Given the description of an element on the screen output the (x, y) to click on. 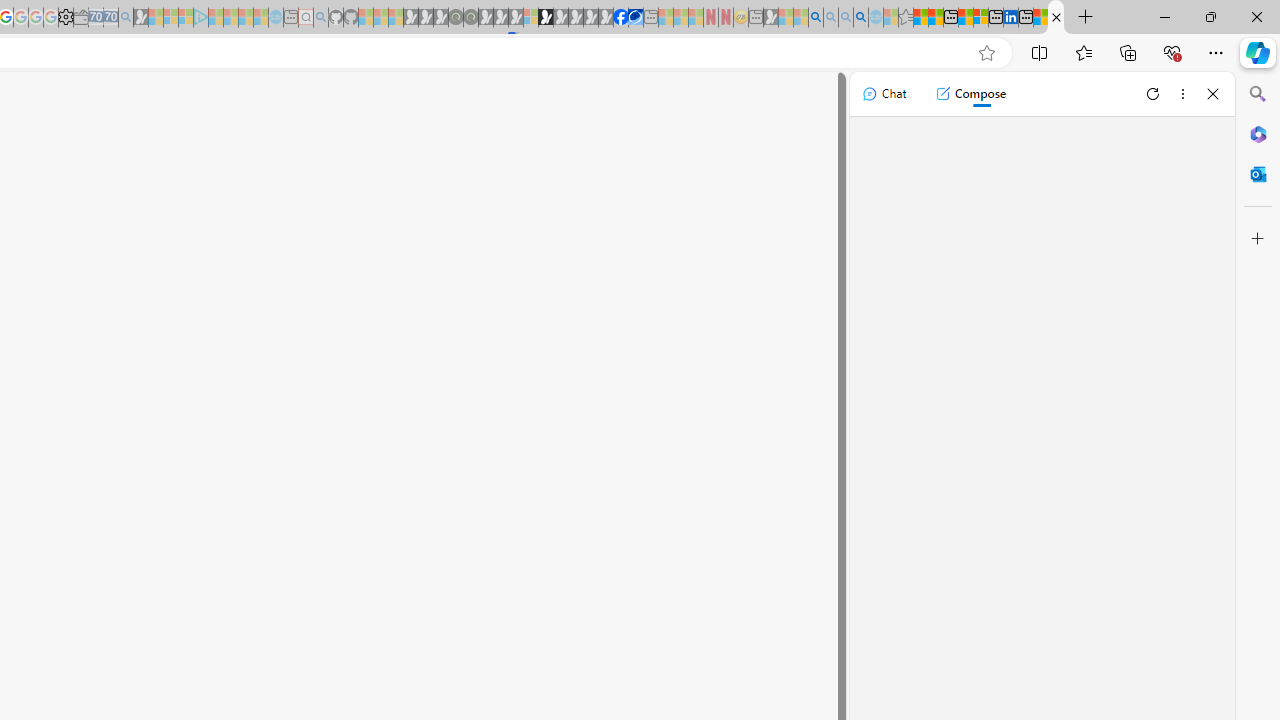
Favorites - Sleeping (905, 17)
Wallet - Sleeping (81, 17)
Aberdeen, Hong Kong SAR weather forecast | Microsoft Weather (936, 17)
Microsoft Start Gaming - Sleeping (141, 17)
